Given the description of an element on the screen output the (x, y) to click on. 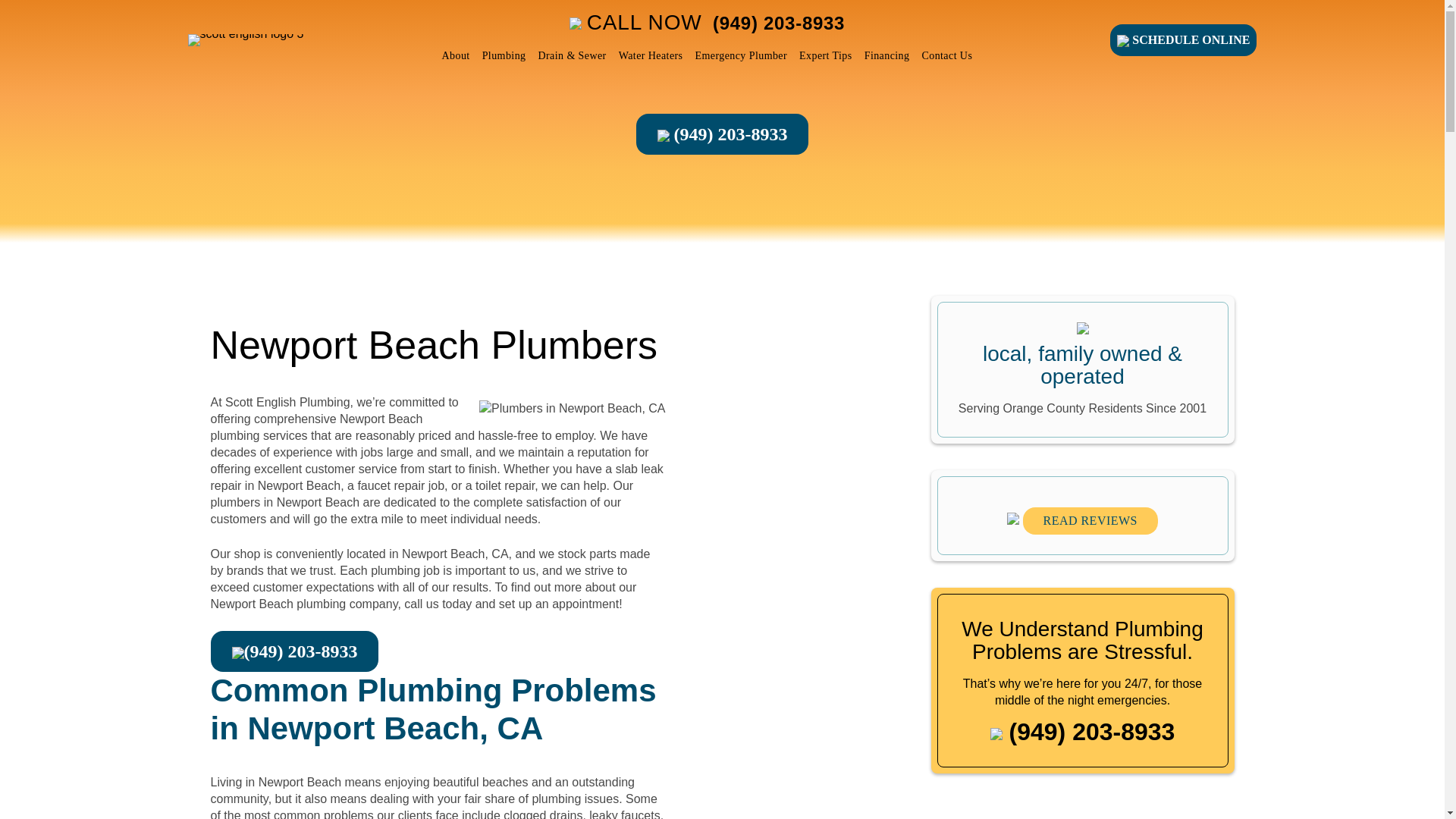
Plumbing (504, 55)
About (455, 55)
Emergency Plumber (740, 55)
Water Heaters (650, 55)
